Given the description of an element on the screen output the (x, y) to click on. 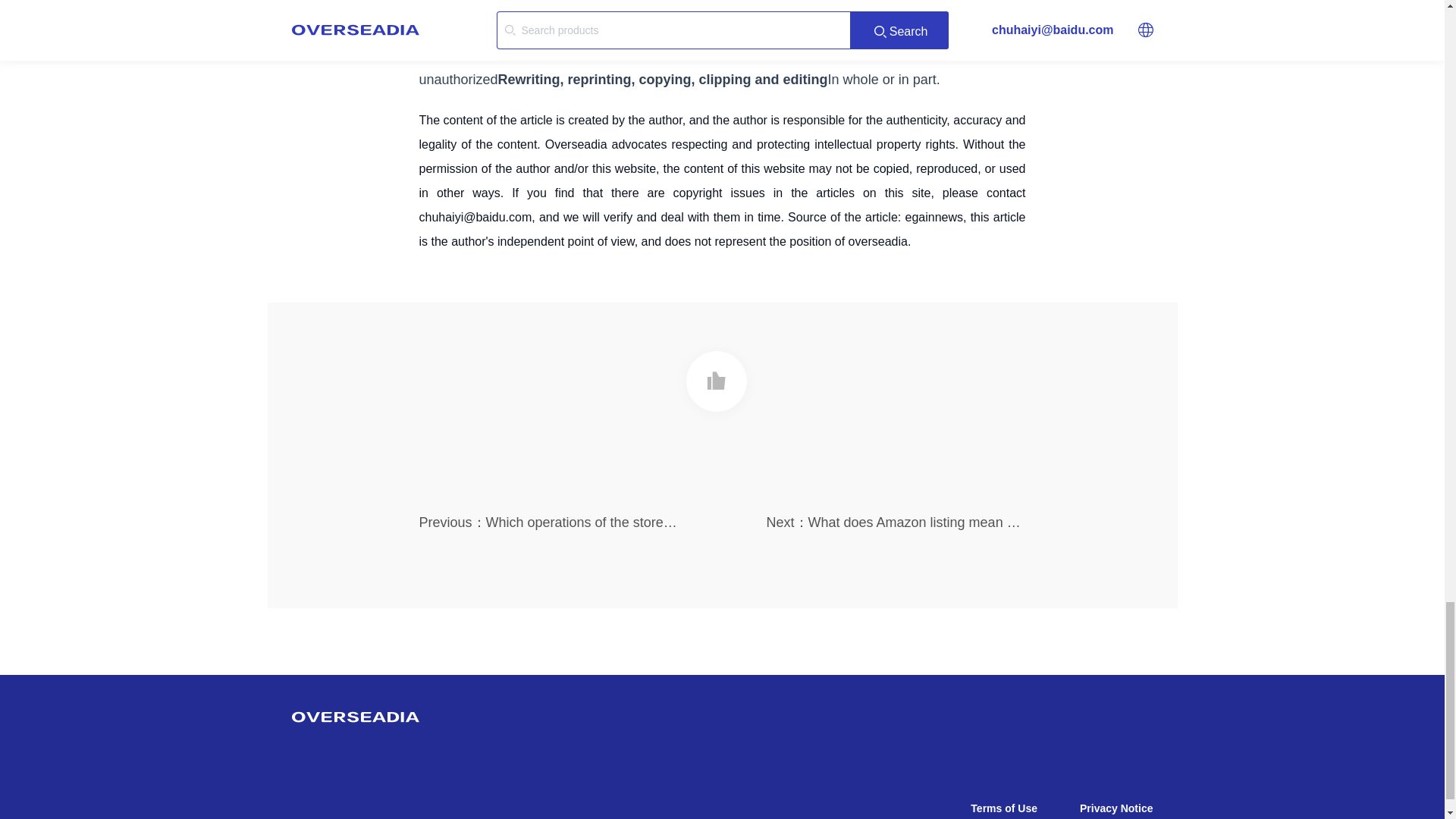
Privacy Notice (1116, 808)
Terms of Use (1003, 808)
